Given the description of an element on the screen output the (x, y) to click on. 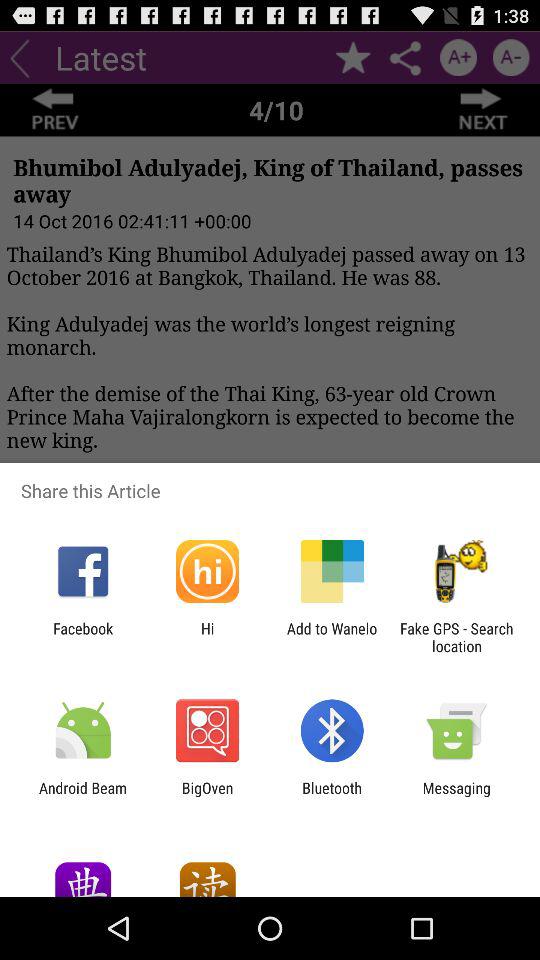
open the app next to add to wanelo icon (207, 637)
